Given the description of an element on the screen output the (x, y) to click on. 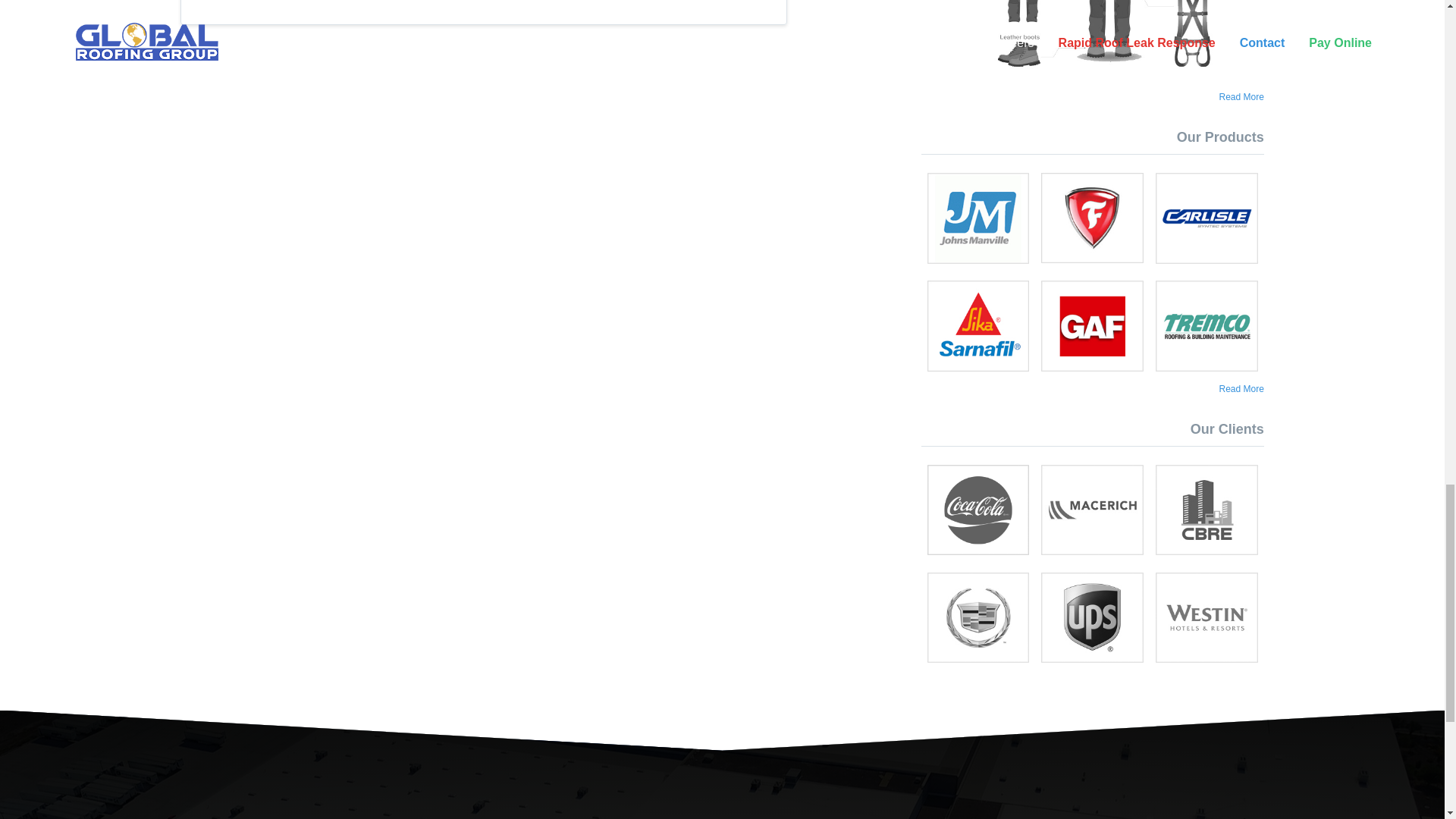
Read More (1241, 388)
Read More (1241, 96)
